Given the description of an element on the screen output the (x, y) to click on. 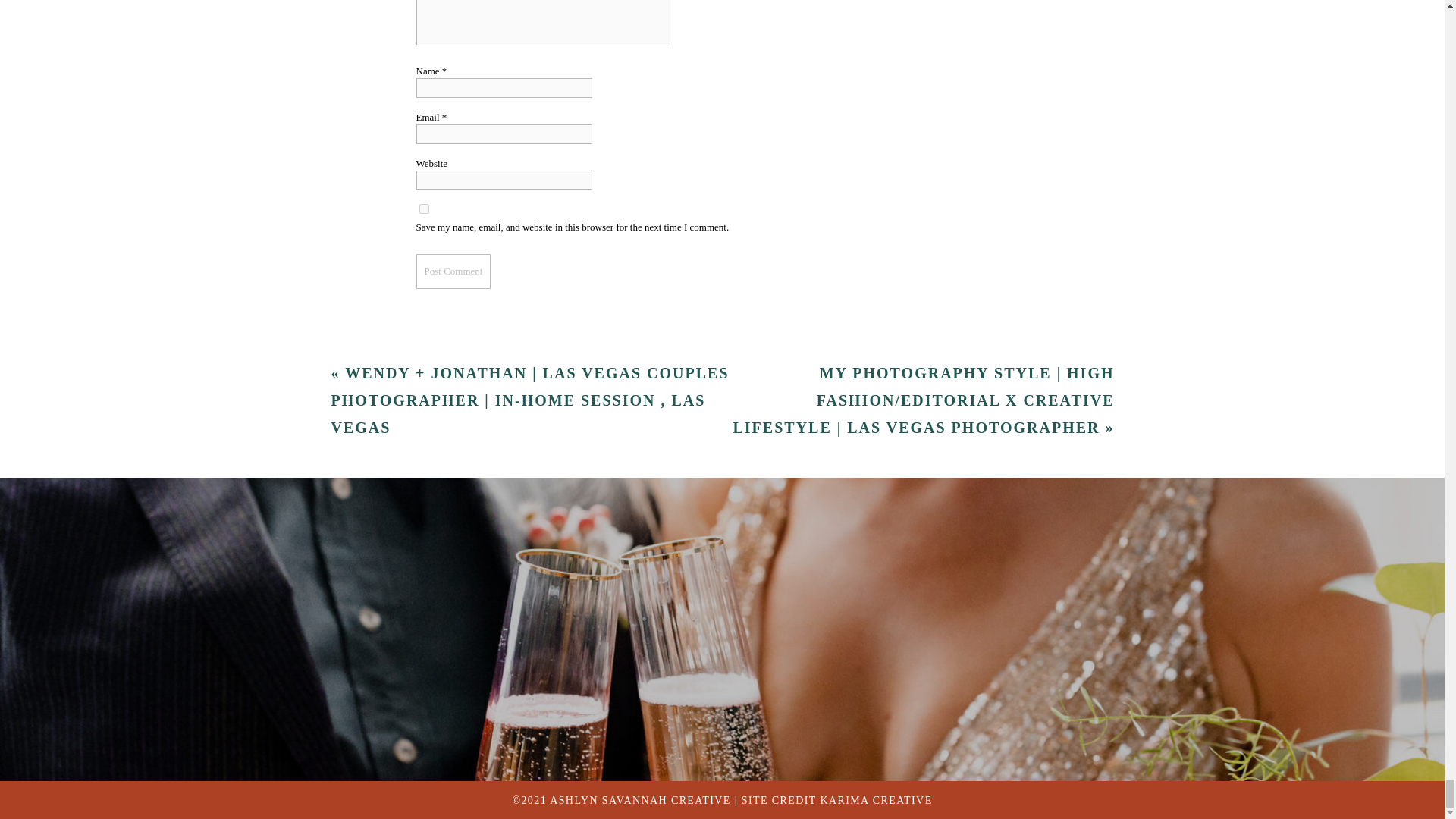
yes (423, 208)
Post Comment (452, 270)
Post Comment (452, 270)
